Given the description of an element on the screen output the (x, y) to click on. 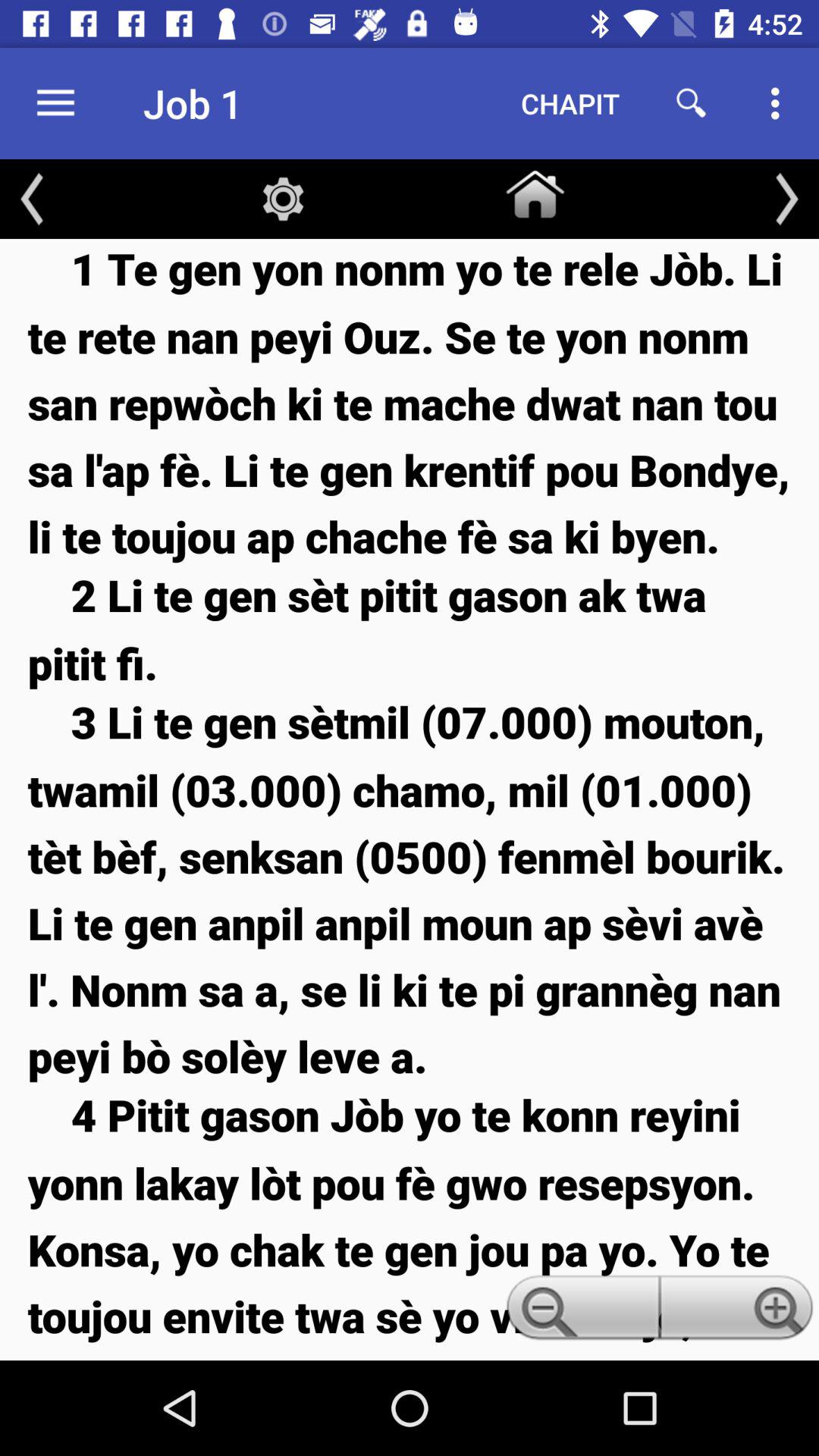
click the chapit icon (570, 103)
